Given the description of an element on the screen output the (x, y) to click on. 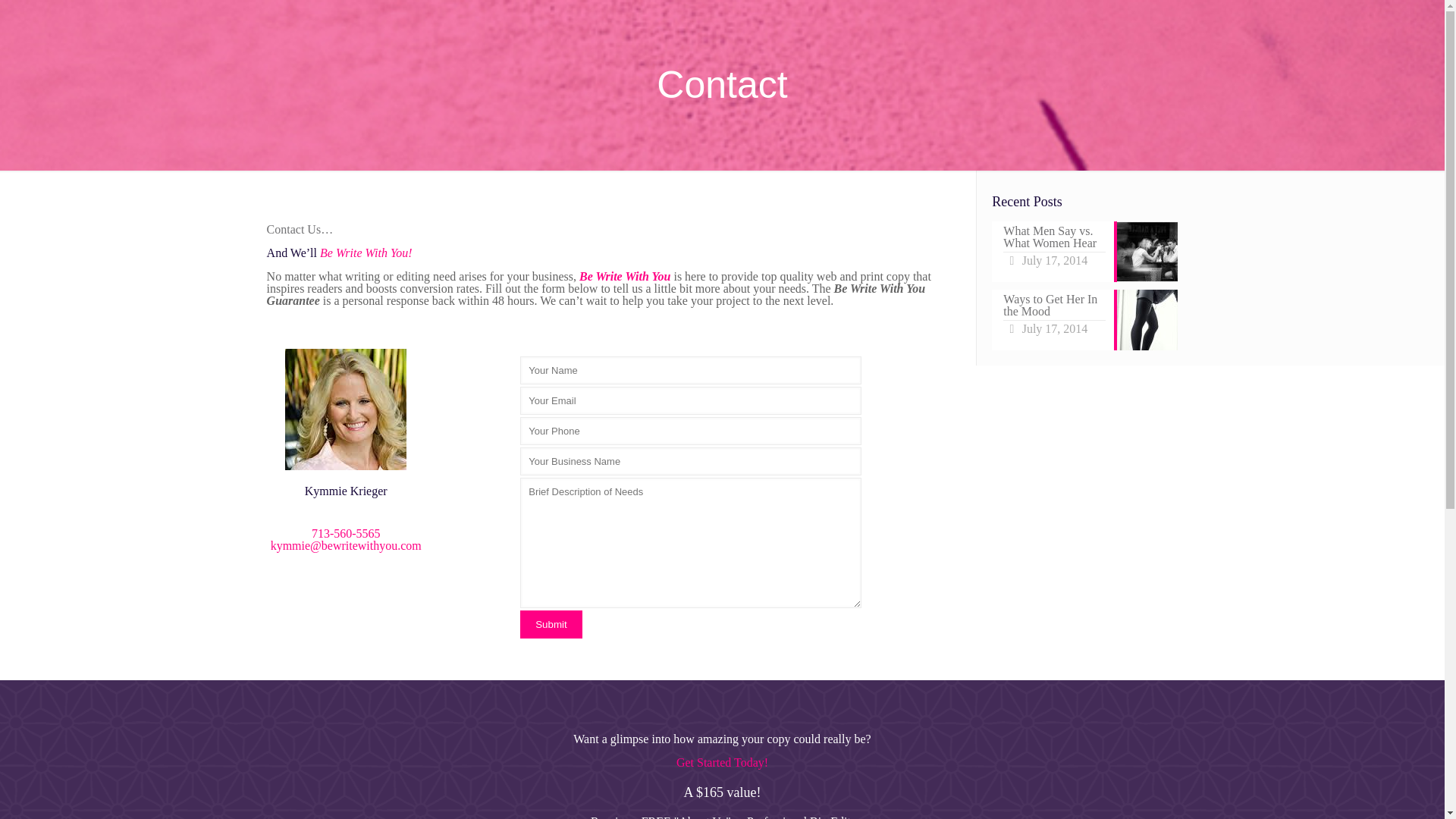
Submit (549, 624)
Submit (549, 624)
